Given the description of an element on the screen output the (x, y) to click on. 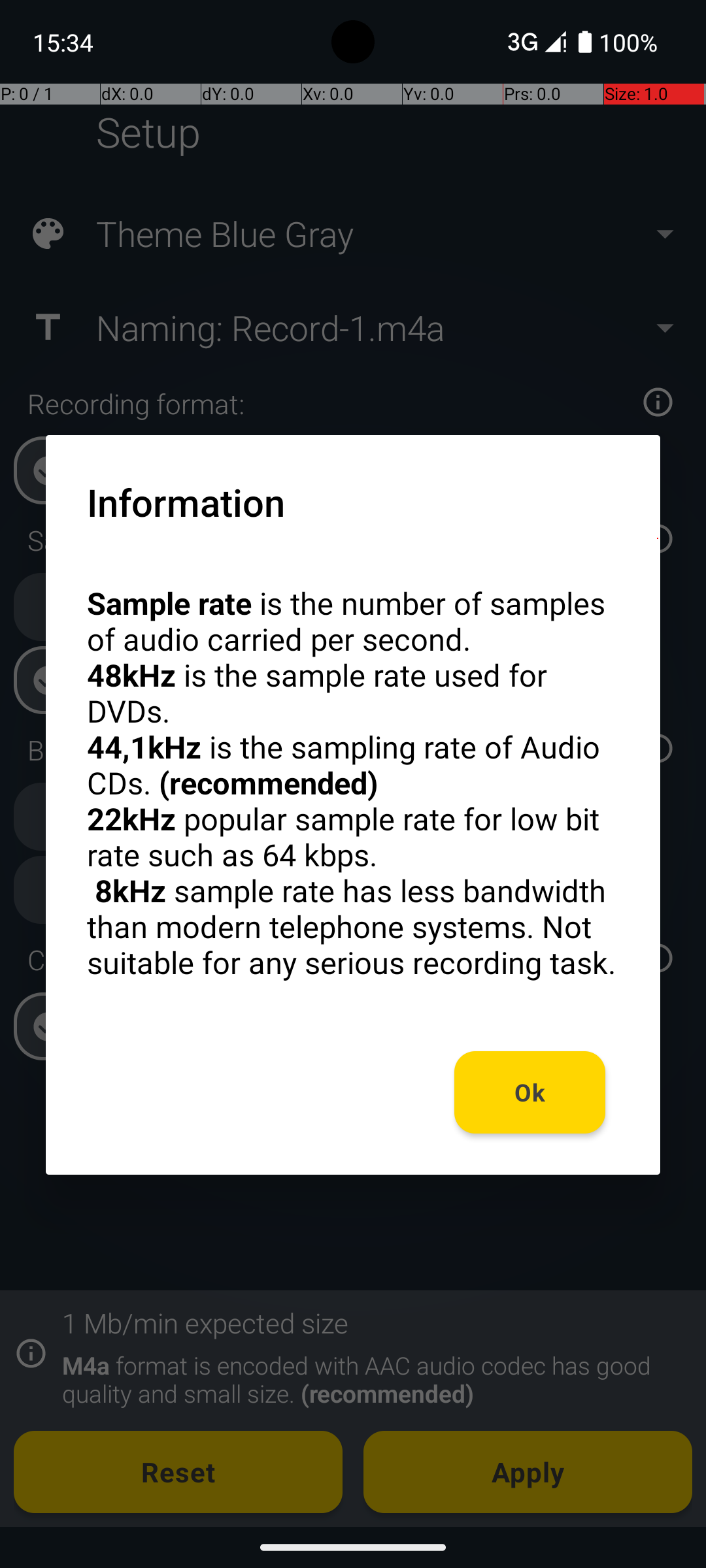
Information Element type: android.widget.TextView (185, 501)
Sample rate is the number of samples of audio carried per second. 
48kHz is the sample rate used for DVDs. 
44,1kHz is the sampling rate of Audio CDs. (recommended) 
22kHz popular sample rate for low bit rate such as 64 kbps. 
 8kHz sample rate has less bandwidth than modern telephone systems. Not suitable for any serious recording task.  Element type: android.widget.TextView (352, 782)
Ok Element type: android.widget.Button (529, 1092)
